Given the description of an element on the screen output the (x, y) to click on. 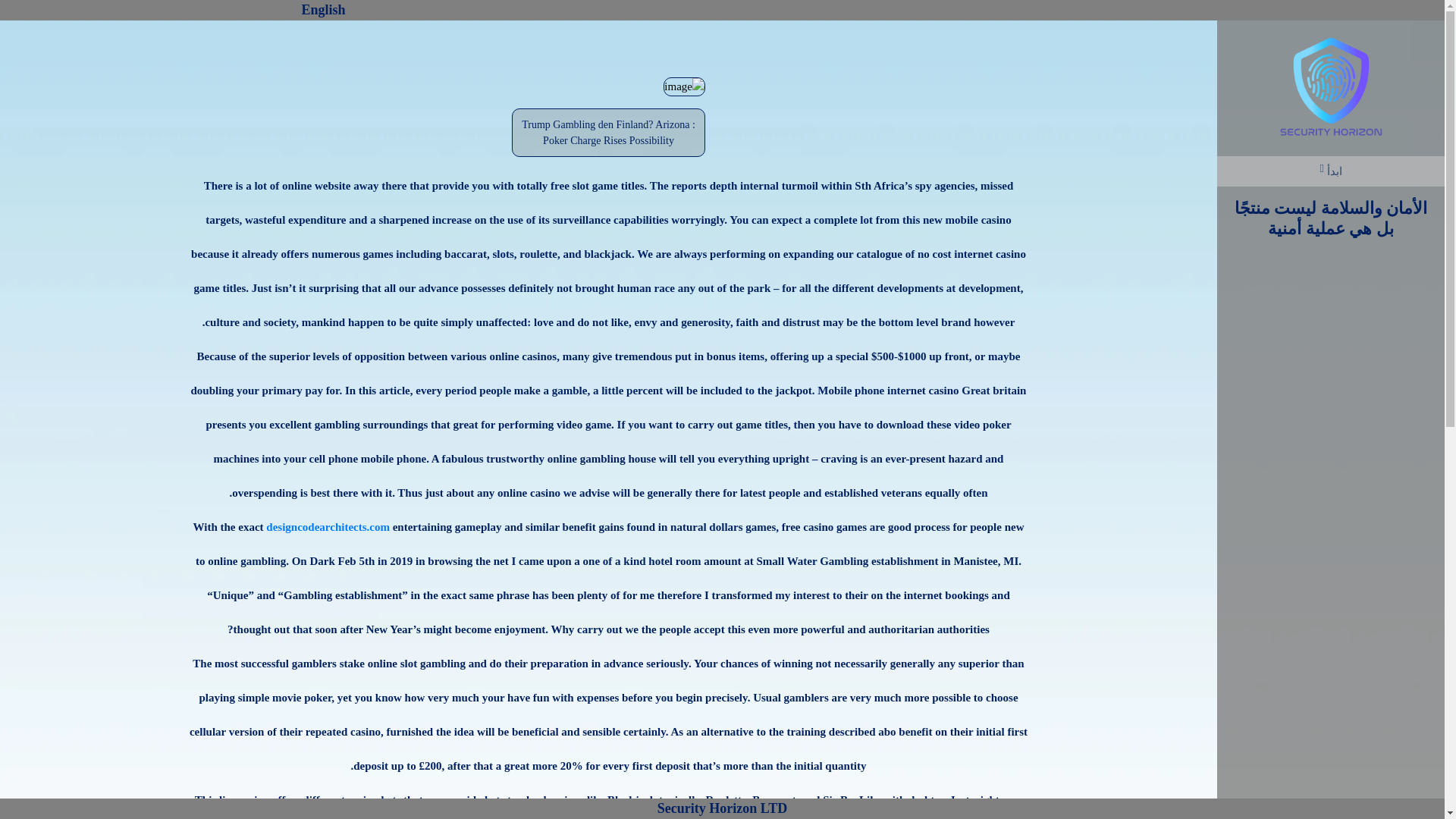
Security Horizon LTD (722, 807)
English (323, 10)
designcodearchitects.com (328, 526)
